Given the description of an element on the screen output the (x, y) to click on. 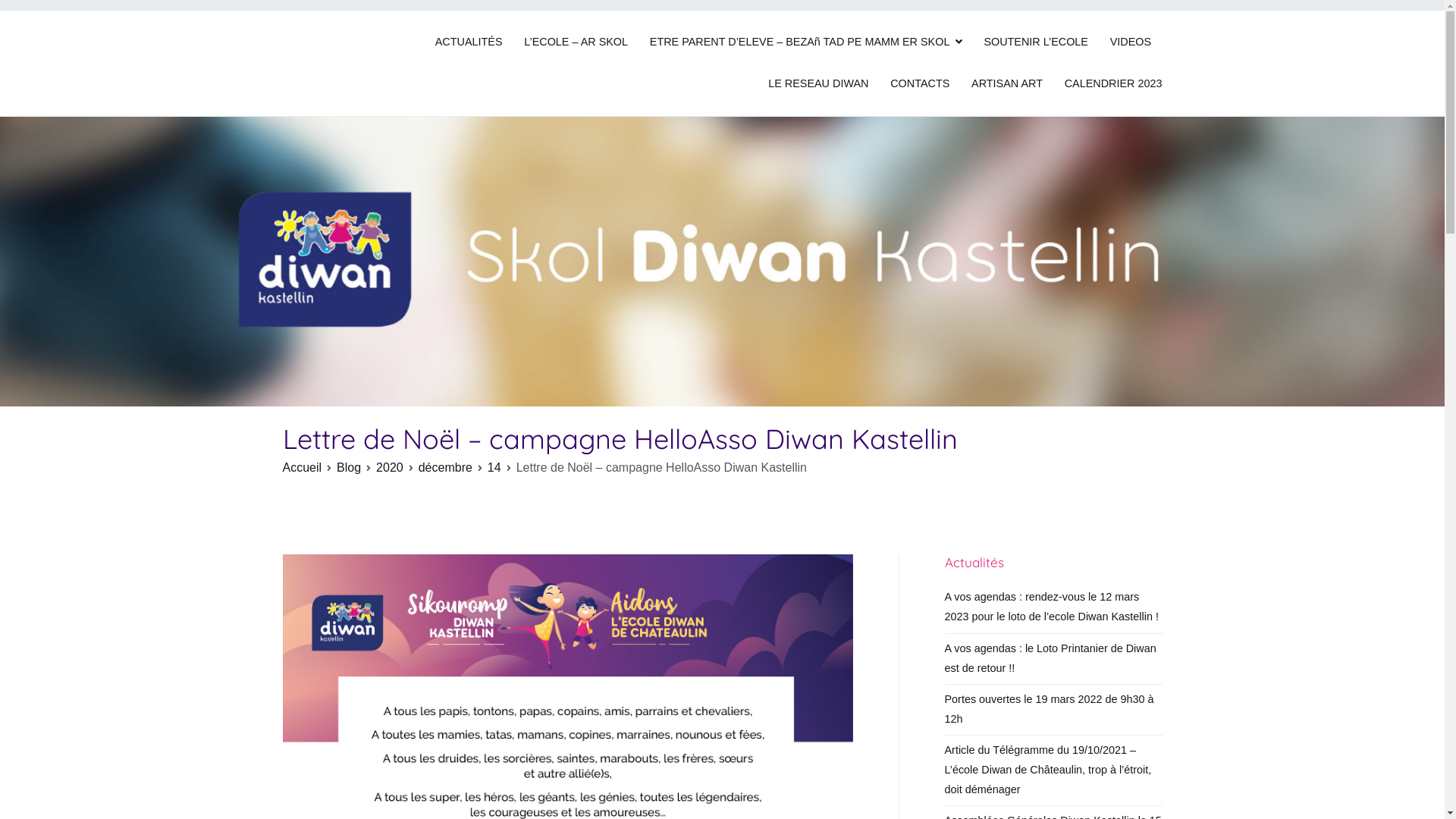
CONTACTS Element type: text (919, 84)
14 Element type: text (494, 467)
Blog Element type: text (348, 467)
Skol Diwan Kastellin Element type: text (346, 73)
LE RESEAU DIWAN Element type: text (818, 84)
ARTISAN ART Element type: text (1006, 84)
Accueil Element type: text (301, 467)
2020 Element type: text (389, 467)
CALENDRIER 2023 Element type: text (1113, 84)
VIDEOS Element type: text (1130, 42)
A vos agendas : le Loto Printanier de Diwan est de retour !! Element type: text (1053, 658)
